Given the description of an element on the screen output the (x, y) to click on. 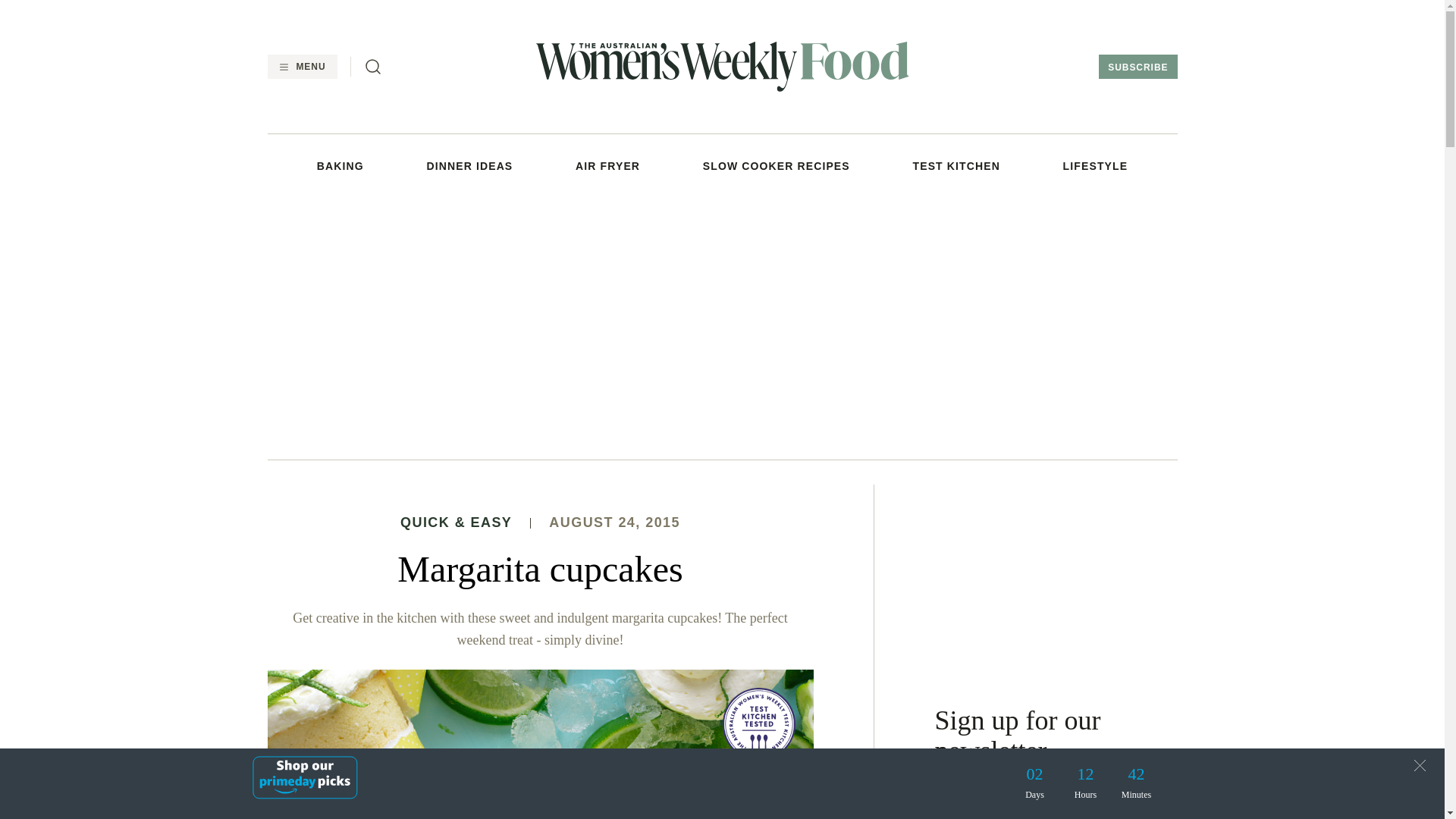
DINNER IDEAS (469, 165)
AIR FRYER (607, 165)
TEST KITCHEN (956, 165)
LIFESTYLE (1095, 165)
BAKING (340, 165)
3rd party ad content (1055, 579)
MENU (301, 66)
SUBSCRIBE (1137, 66)
SLOW COOKER RECIPES (776, 165)
